Given the description of an element on the screen output the (x, y) to click on. 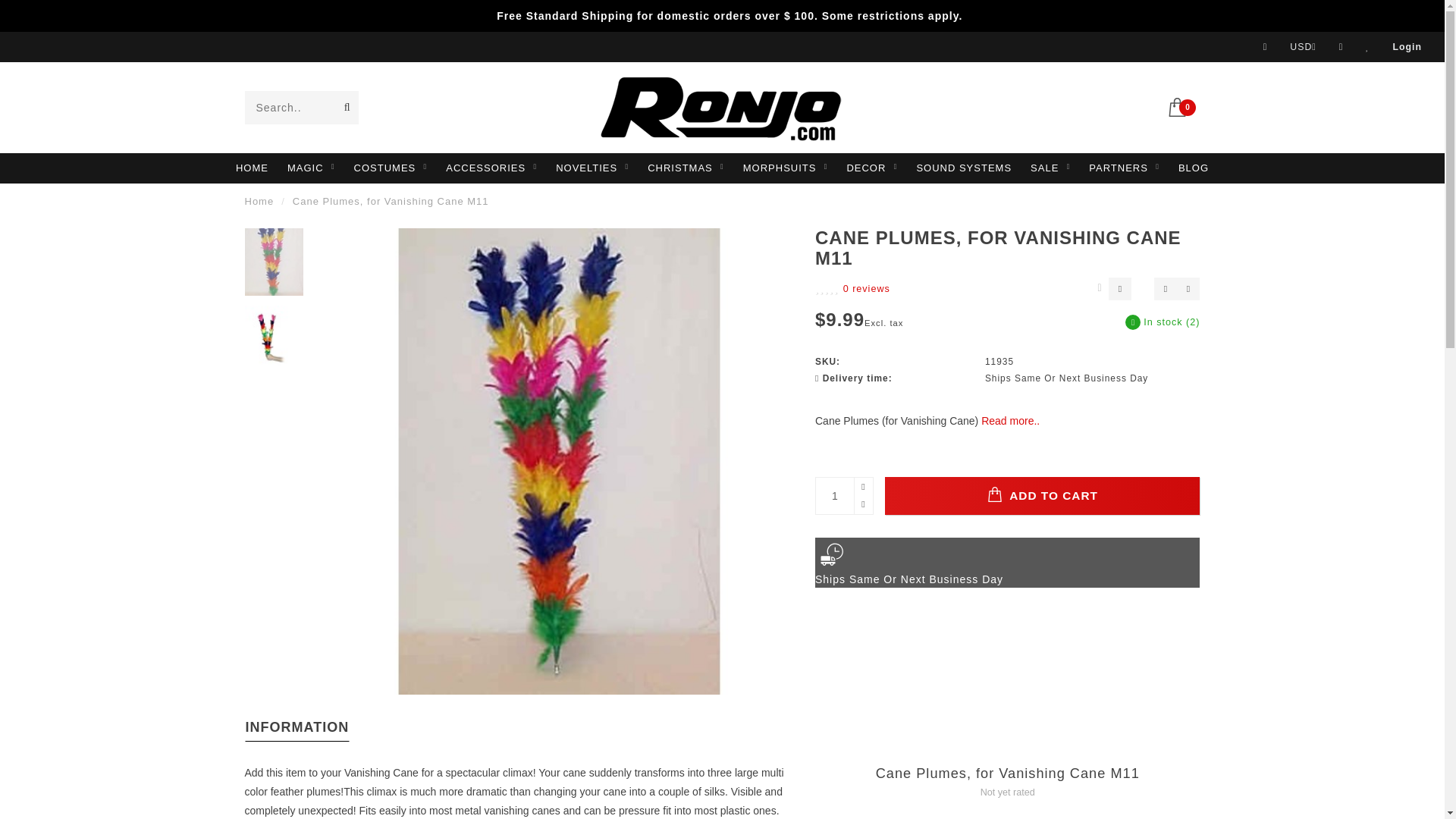
Home (258, 201)
HOME (251, 168)
Add to wishlist (1165, 288)
1 (843, 495)
Add to compare (1187, 288)
MAGIC (310, 168)
0 (1183, 105)
Compare (1341, 46)
Login (1406, 46)
My wishlist (1367, 46)
USD (1303, 46)
